Given the description of an element on the screen output the (x, y) to click on. 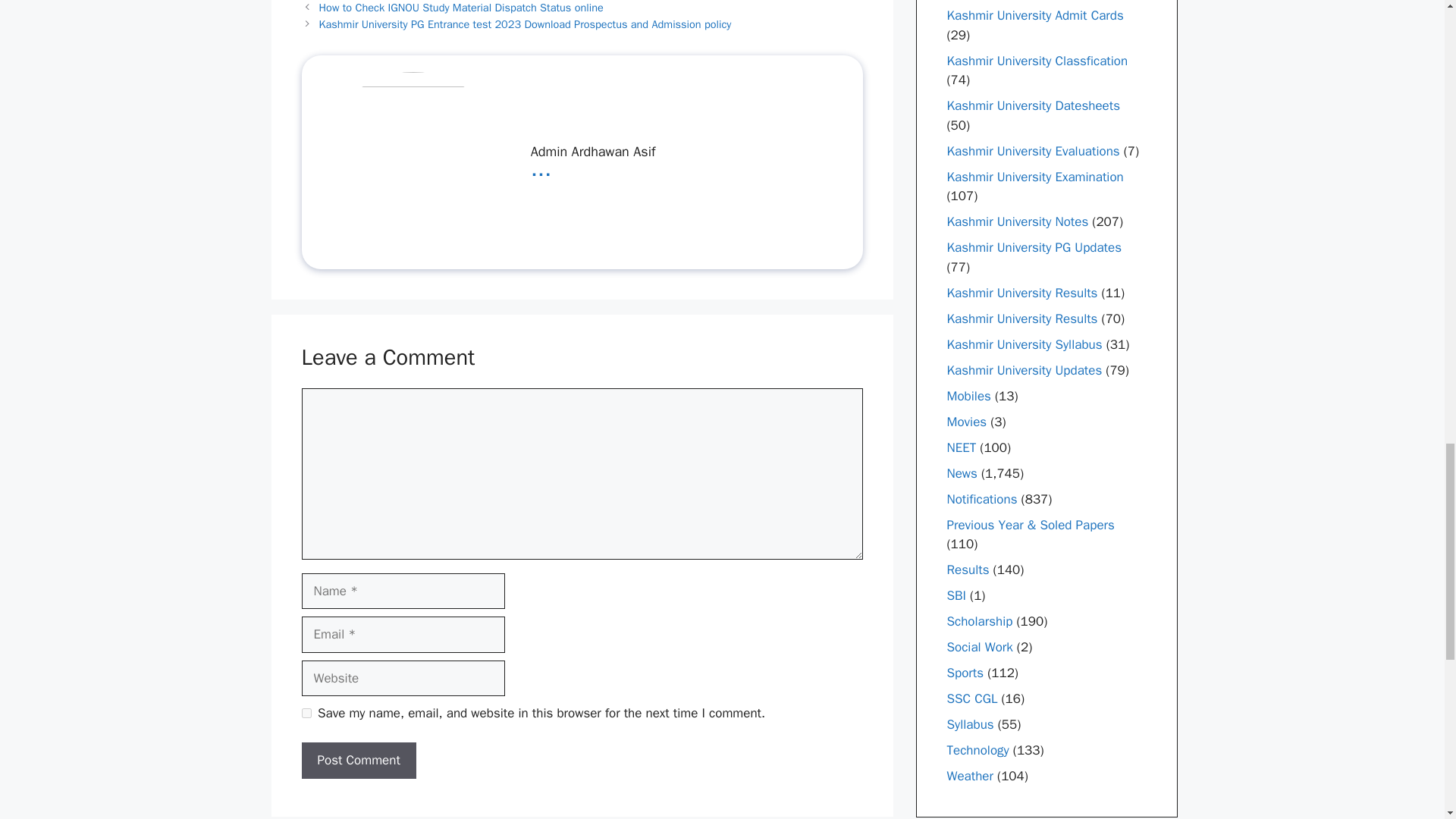
Post Comment (358, 760)
Post Comment (358, 760)
yes (306, 713)
How to Check IGNOU Study Material Dispatch Status online (461, 7)
